Given the description of an element on the screen output the (x, y) to click on. 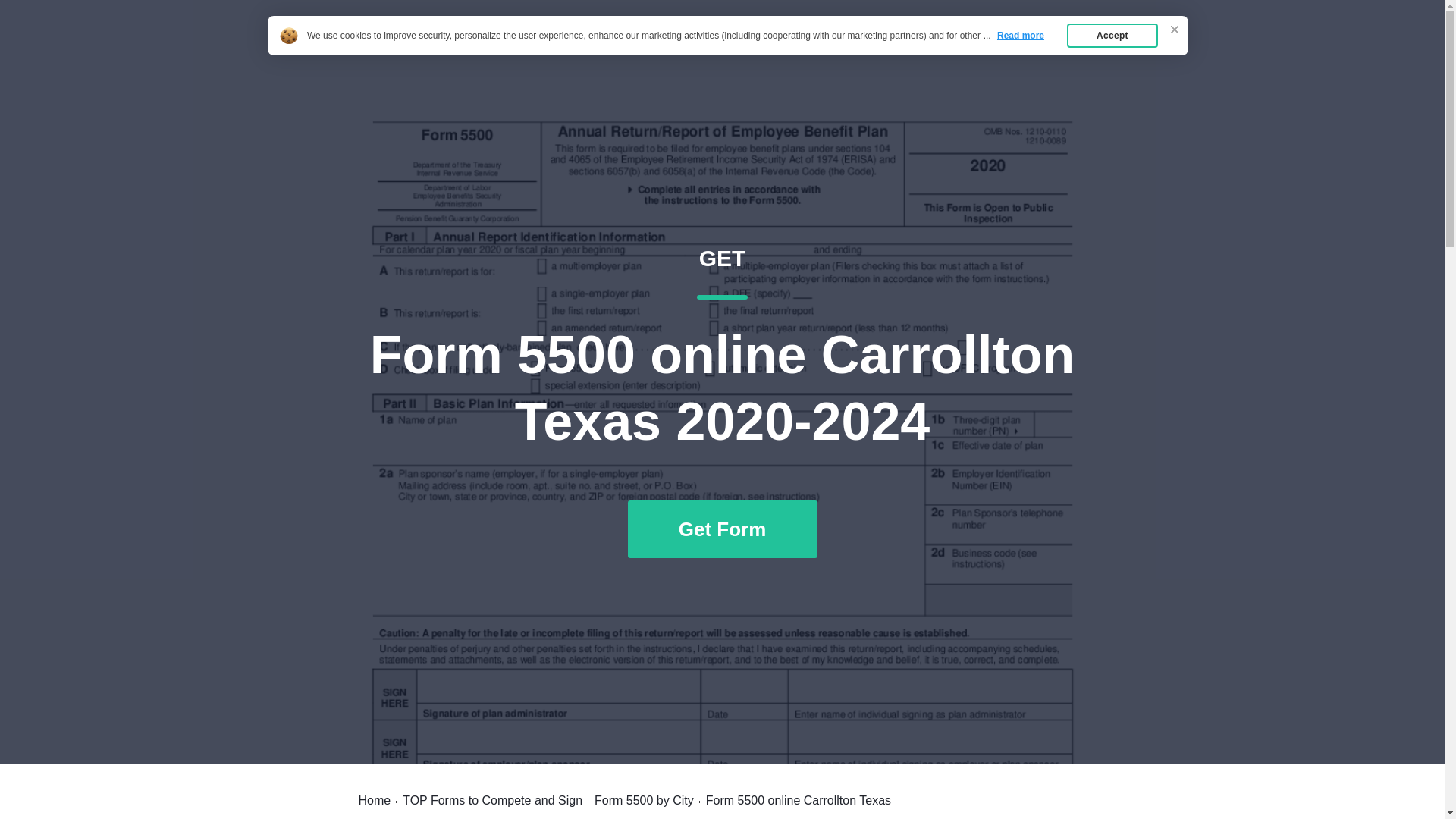
Form 5500 by City (644, 800)
TOP Forms to Compete and Sign (492, 800)
Home (987, 47)
Irs Form 5500 (412, 46)
Top Forms (374, 800)
